Given the description of an element on the screen output the (x, y) to click on. 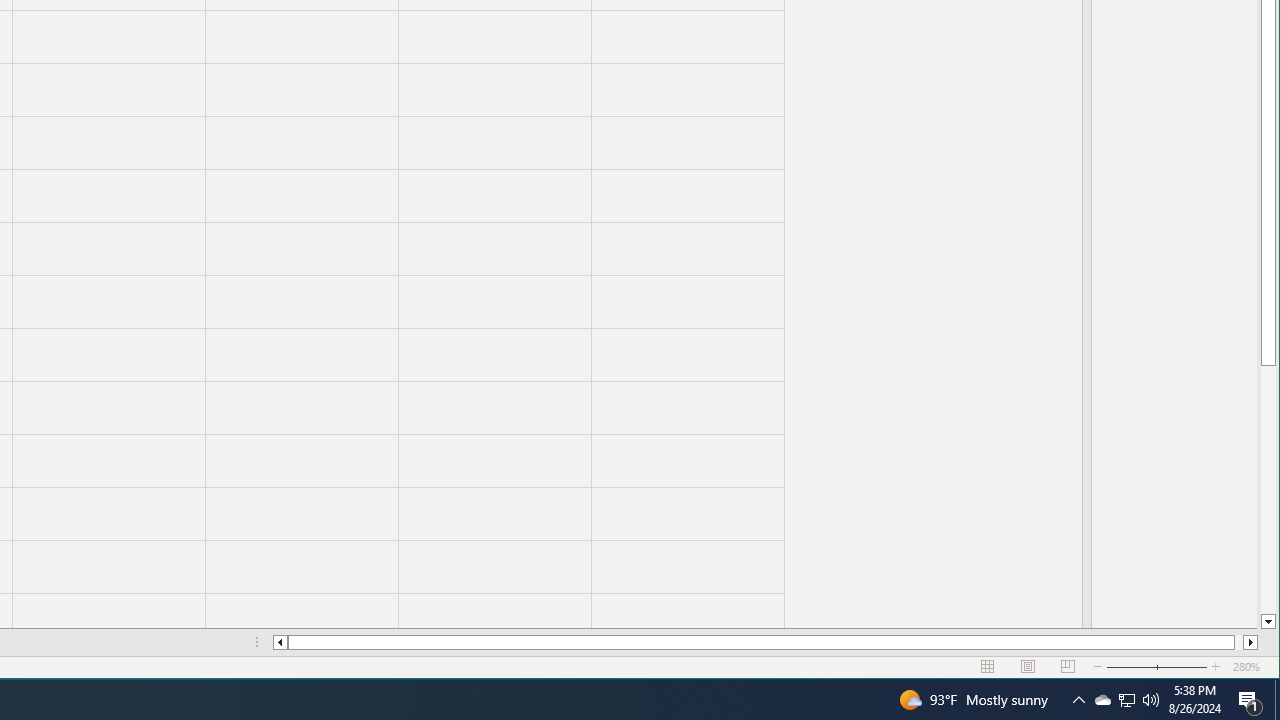
Show desktop (1277, 699)
